Given the description of an element on the screen output the (x, y) to click on. 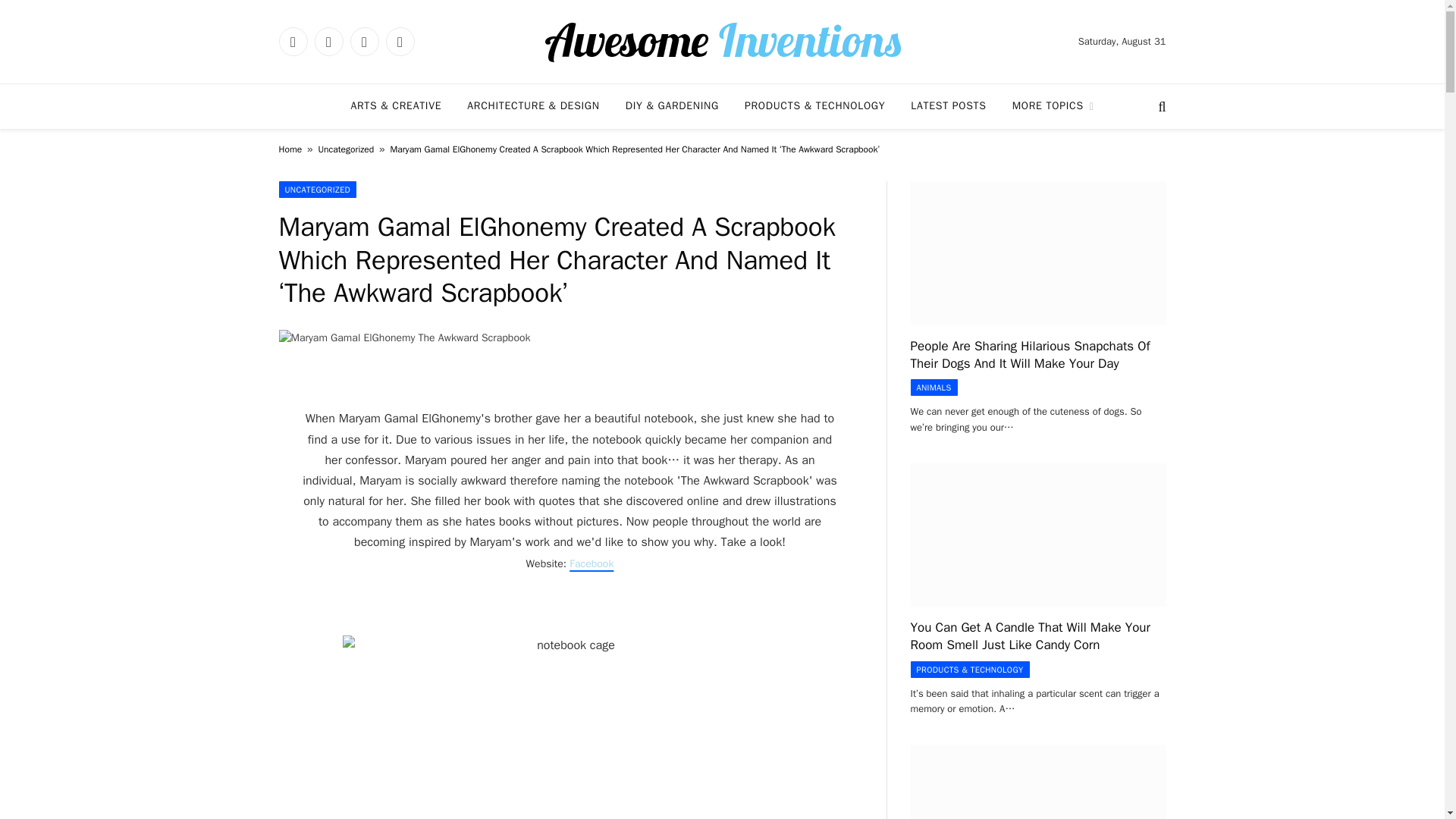
Latest Posts (948, 106)
Instagram (364, 41)
UNCATEGORIZED (317, 189)
Facebook (590, 563)
Awesome Inventions (721, 41)
MORE TOPICS (1052, 106)
Pinterest (399, 41)
Uncategorized (345, 149)
Home (290, 149)
LATEST POSTS (948, 106)
